Given the description of an element on the screen output the (x, y) to click on. 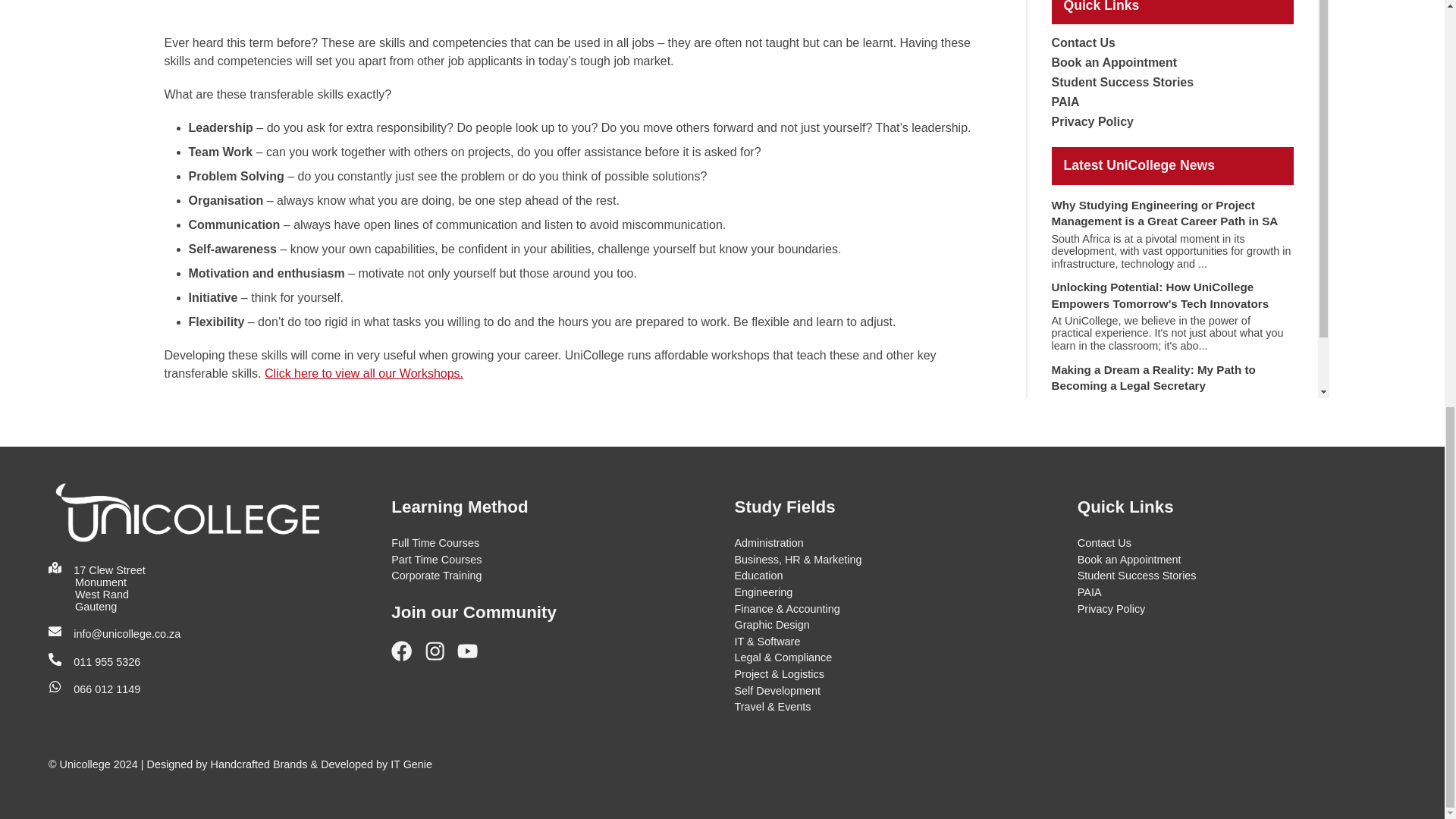
Facebook (407, 657)
Instagram (441, 657)
Click here to view all our Workshops. (363, 373)
YouTube (473, 657)
